Given the description of an element on the screen output the (x, y) to click on. 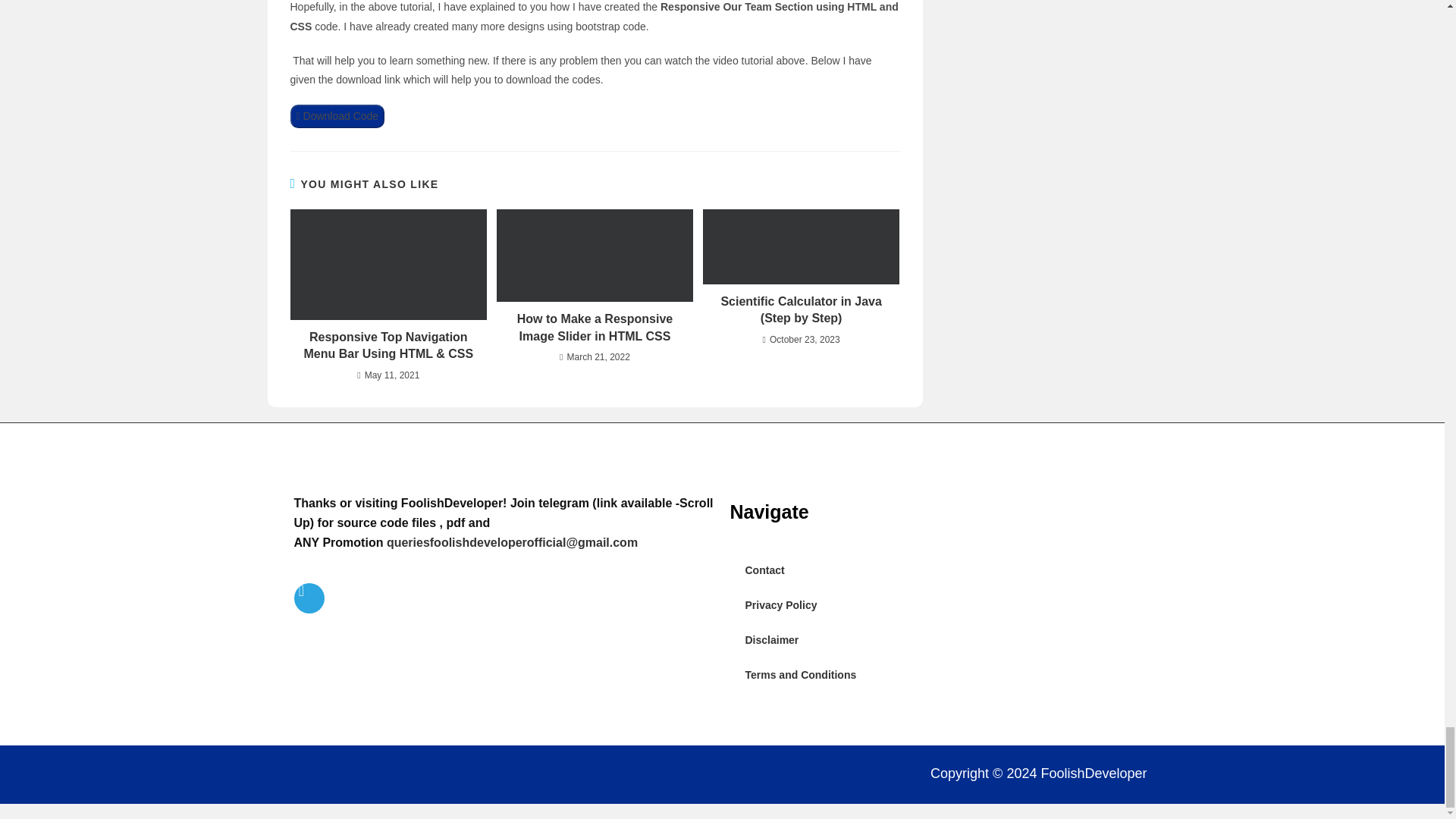
How to Make a Responsive Image Slider in HTML CSS (594, 327)
Download Code (336, 115)
